Given the description of an element on the screen output the (x, y) to click on. 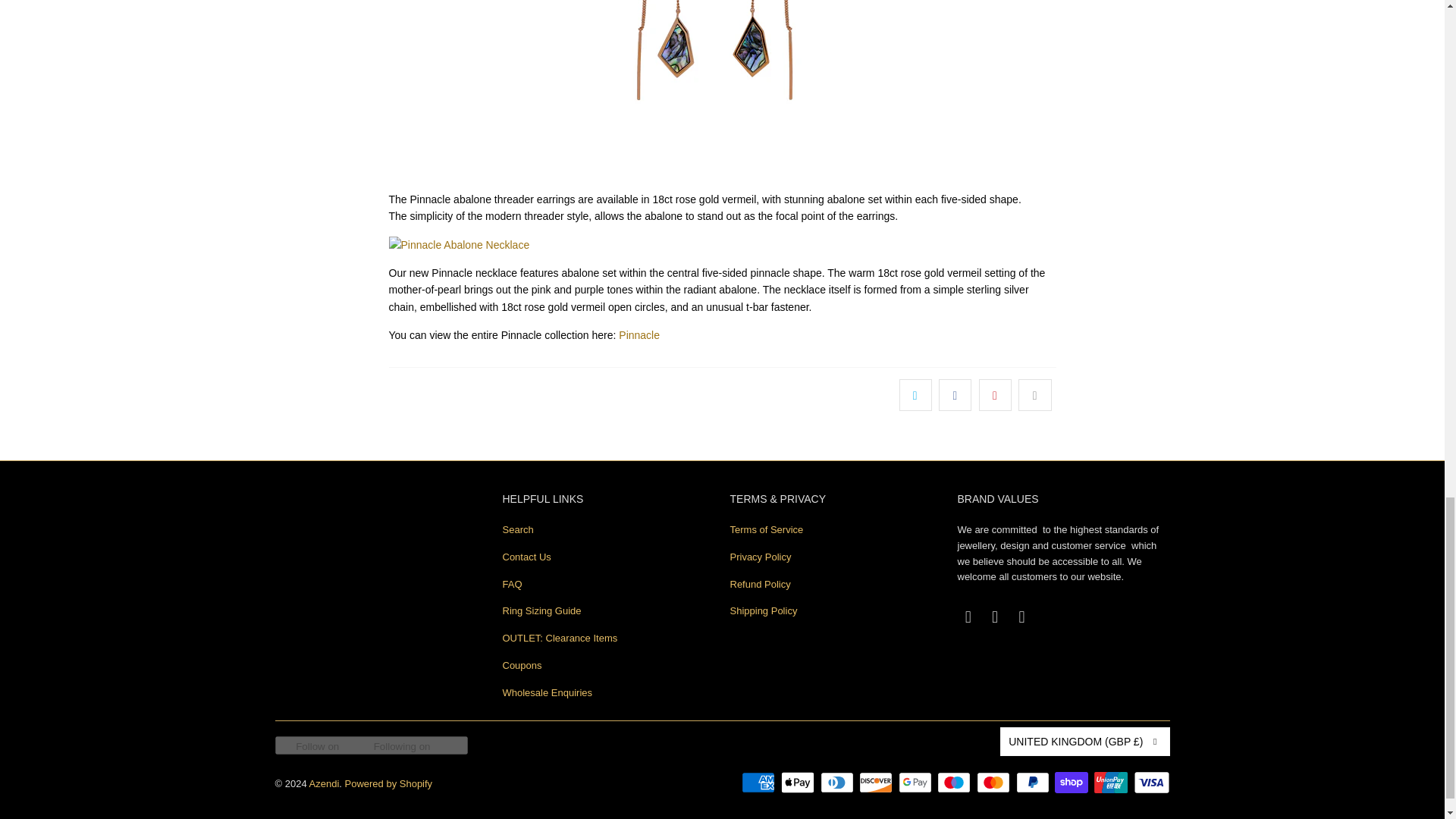
Discover (877, 782)
Google Pay (916, 782)
Union Pay (1112, 782)
Apple Pay (798, 782)
Diners Club (839, 782)
Pinnacle Abalone T-Bar Necklace (721, 244)
PayPal (1034, 782)
Shop Pay (1072, 782)
Share this on Twitter (915, 395)
American Express (759, 782)
